Given the description of an element on the screen output the (x, y) to click on. 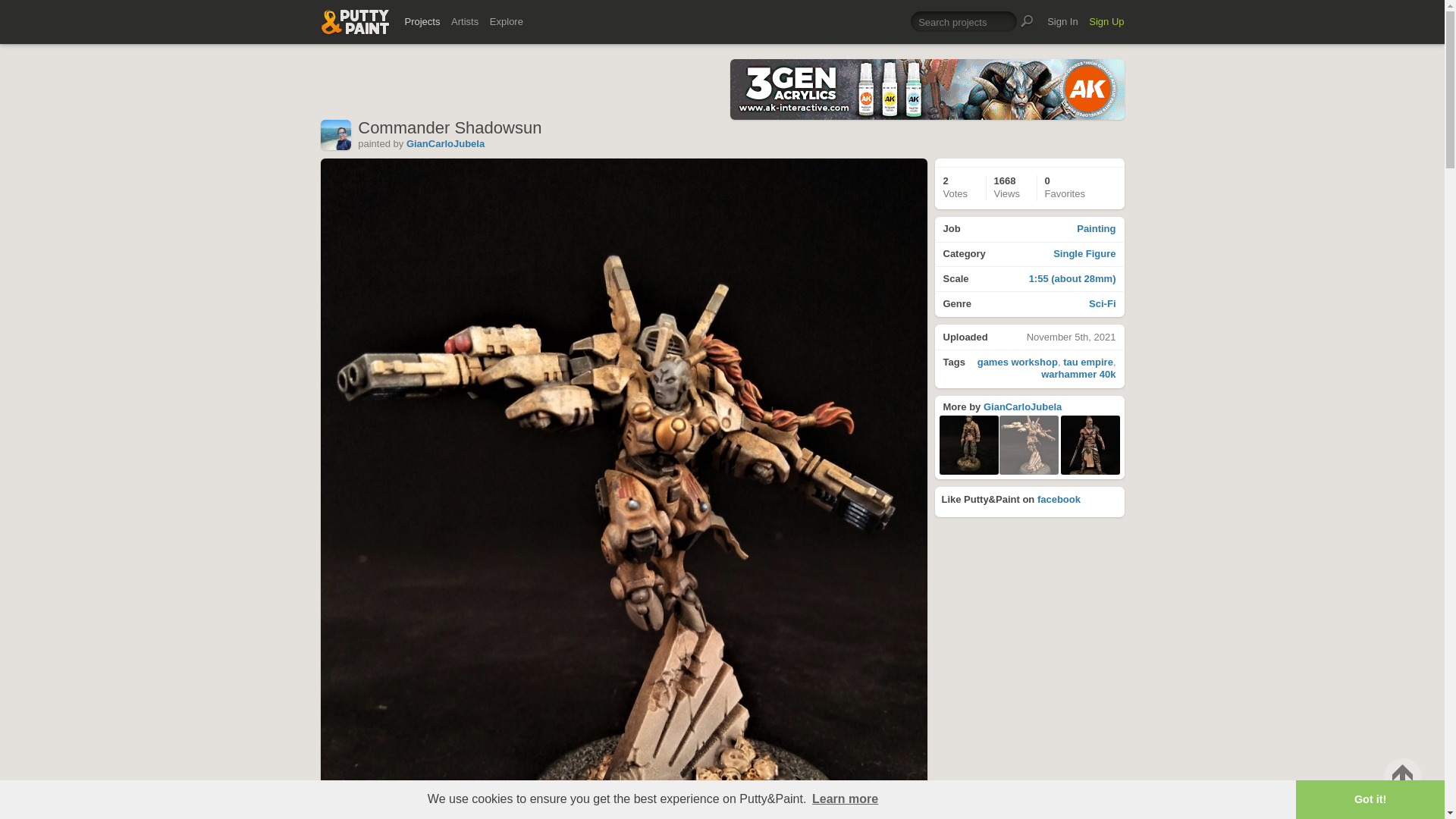
Show all projects tagged tau empire (1087, 361)
Sign In (1061, 21)
GianCarloJubela (1022, 406)
Learn more (844, 798)
Projects (422, 21)
Show all projects tagged games workshop (1017, 361)
Search projects (963, 21)
warhammer 40k (1030, 229)
View Profile (1078, 374)
AK Interactive (1022, 406)
Show all projects tagged warhammer 40k (926, 88)
tau empire (1078, 374)
games workshop (1087, 361)
